Given the description of an element on the screen output the (x, y) to click on. 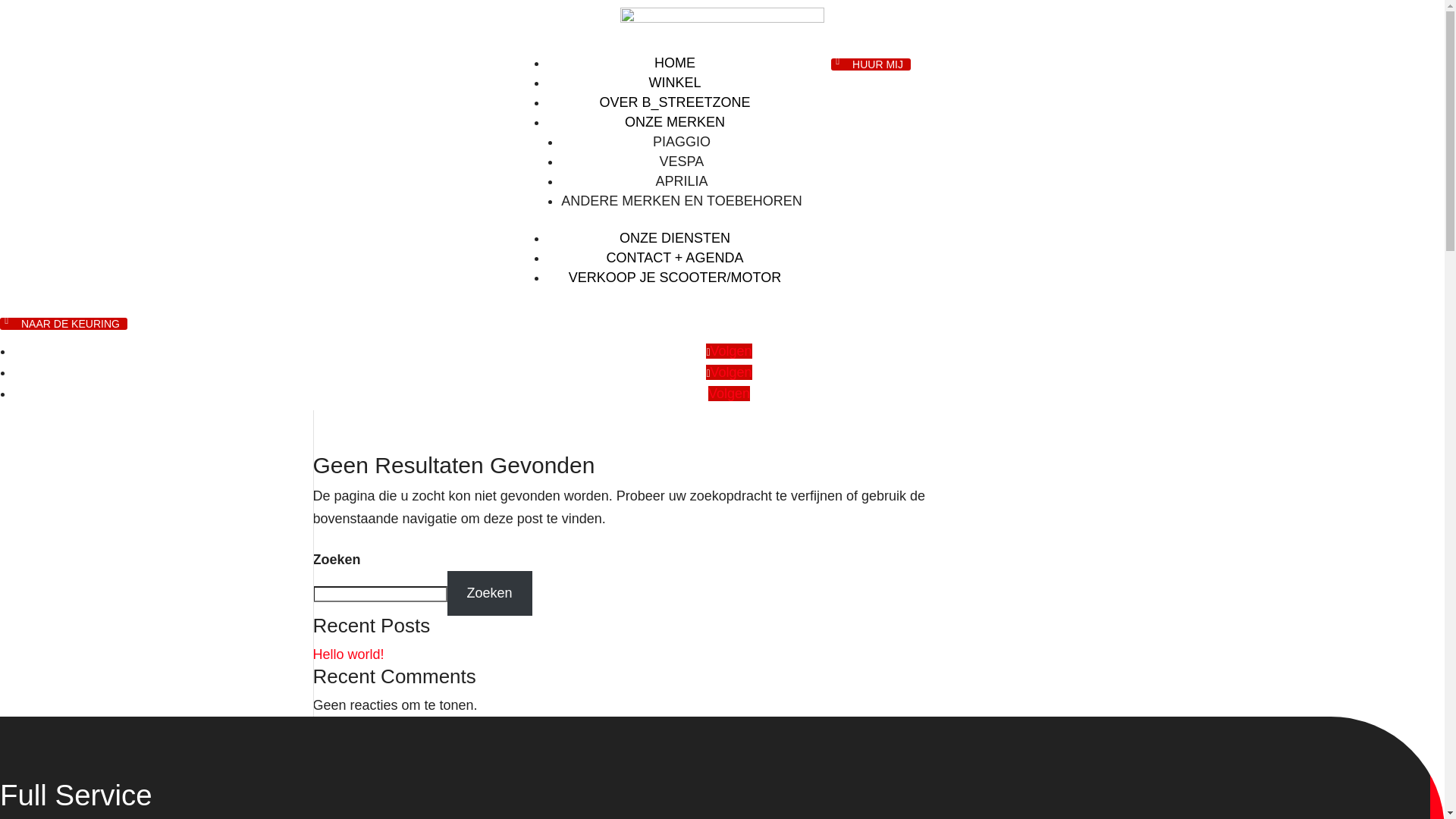
Volgen Element type: text (728, 350)
APRILIA Element type: text (681, 180)
B-Streetzone-logo Element type: hover (722, 27)
WINKEL Element type: text (674, 82)
Volgen Element type: text (728, 393)
ANDERE MERKEN EN TOEBEHOREN Element type: text (681, 200)
PIAGGIO Element type: text (681, 141)
ONZE MERKEN Element type: text (674, 121)
ONZE DIENSTEN Element type: text (674, 237)
OVER B_STREETZONE Element type: text (674, 101)
Zoeken Element type: text (489, 593)
CONTACT + AGENDA Element type: text (674, 257)
VERKOOP JE SCOOTER/MOTOR Element type: text (674, 277)
VESPA Element type: text (681, 161)
Volgen Element type: text (728, 371)
NAAR DE KEURING Element type: text (63, 323)
HOME Element type: text (674, 62)
Hello world! Element type: text (347, 654)
HUUR MIJ Element type: text (870, 64)
